Given the description of an element on the screen output the (x, y) to click on. 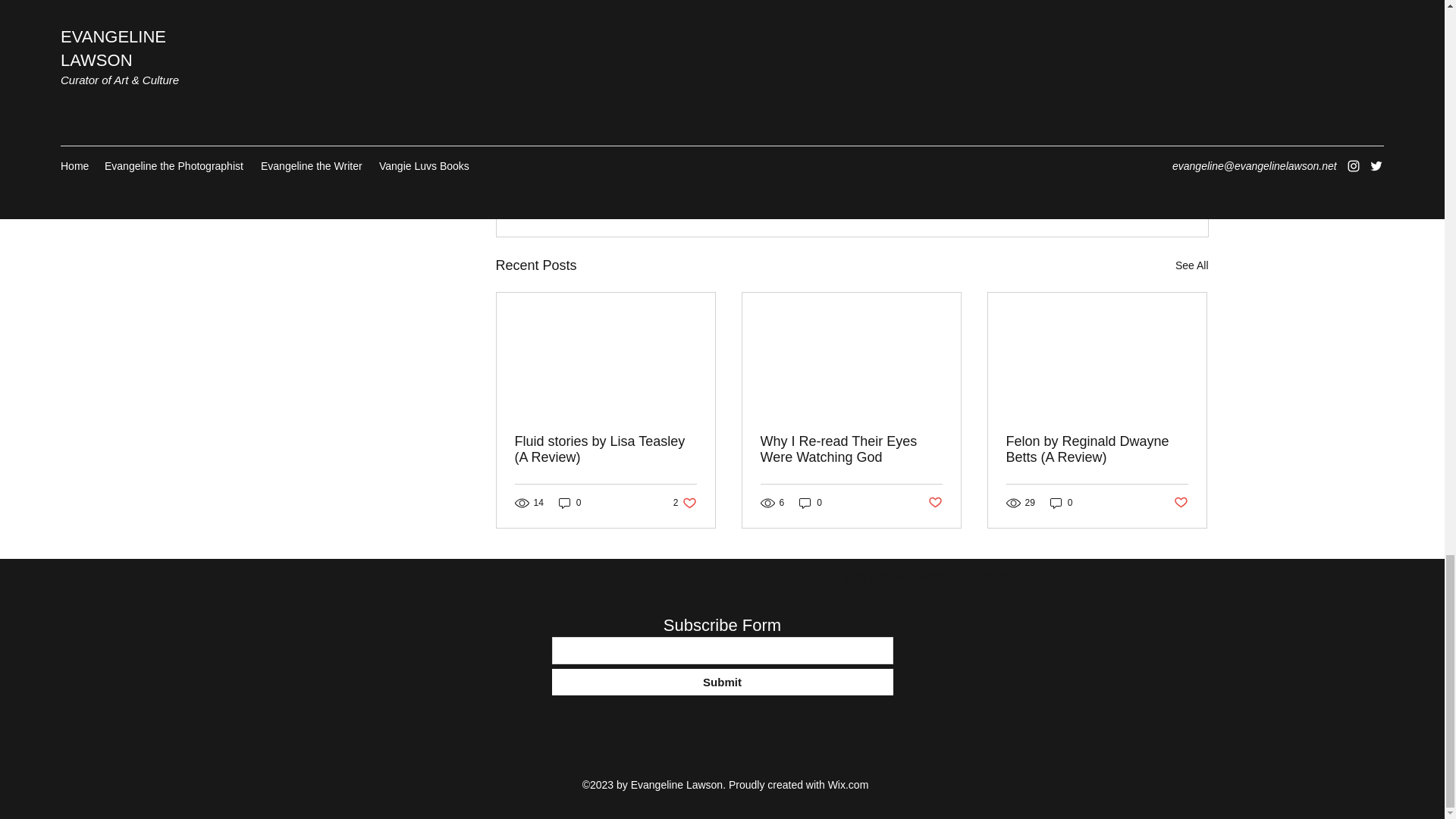
Book Reviews (684, 503)
Do Not Sell My Personal Information (1098, 137)
Post not marked as liked (933, 577)
Post not marked as liked (935, 503)
Submit (1125, 182)
Why I Re-read Their Eyes Were Watching God (722, 682)
0 (851, 450)
0 (570, 503)
See All (1061, 503)
Post not marked as liked (1191, 265)
0 (1180, 503)
